Given the description of an element on the screen output the (x, y) to click on. 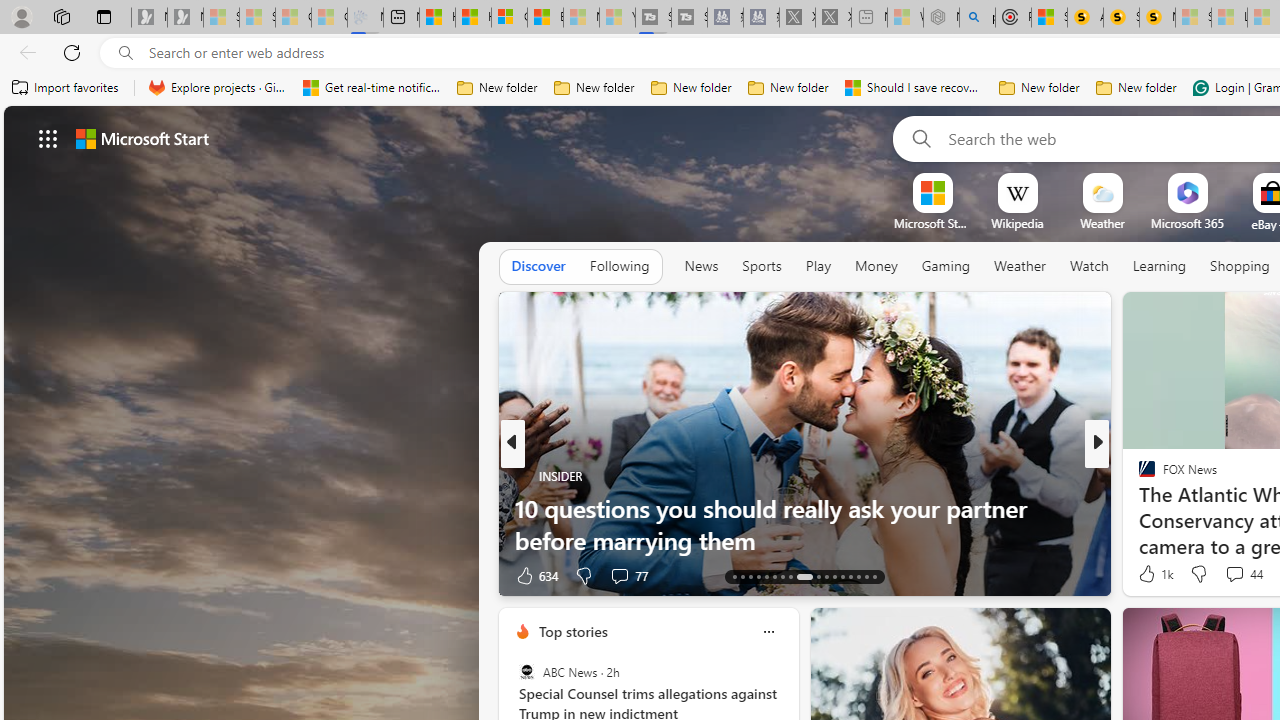
To get missing image descriptions, open the context menu. (932, 192)
ABC News (526, 672)
Fox Business (1138, 507)
AutomationID: tab-29 (874, 576)
AutomationID: tab-20 (789, 576)
AutomationID: tab-26 (850, 576)
Shopping (1240, 265)
